Given the description of an element on the screen output the (x, y) to click on. 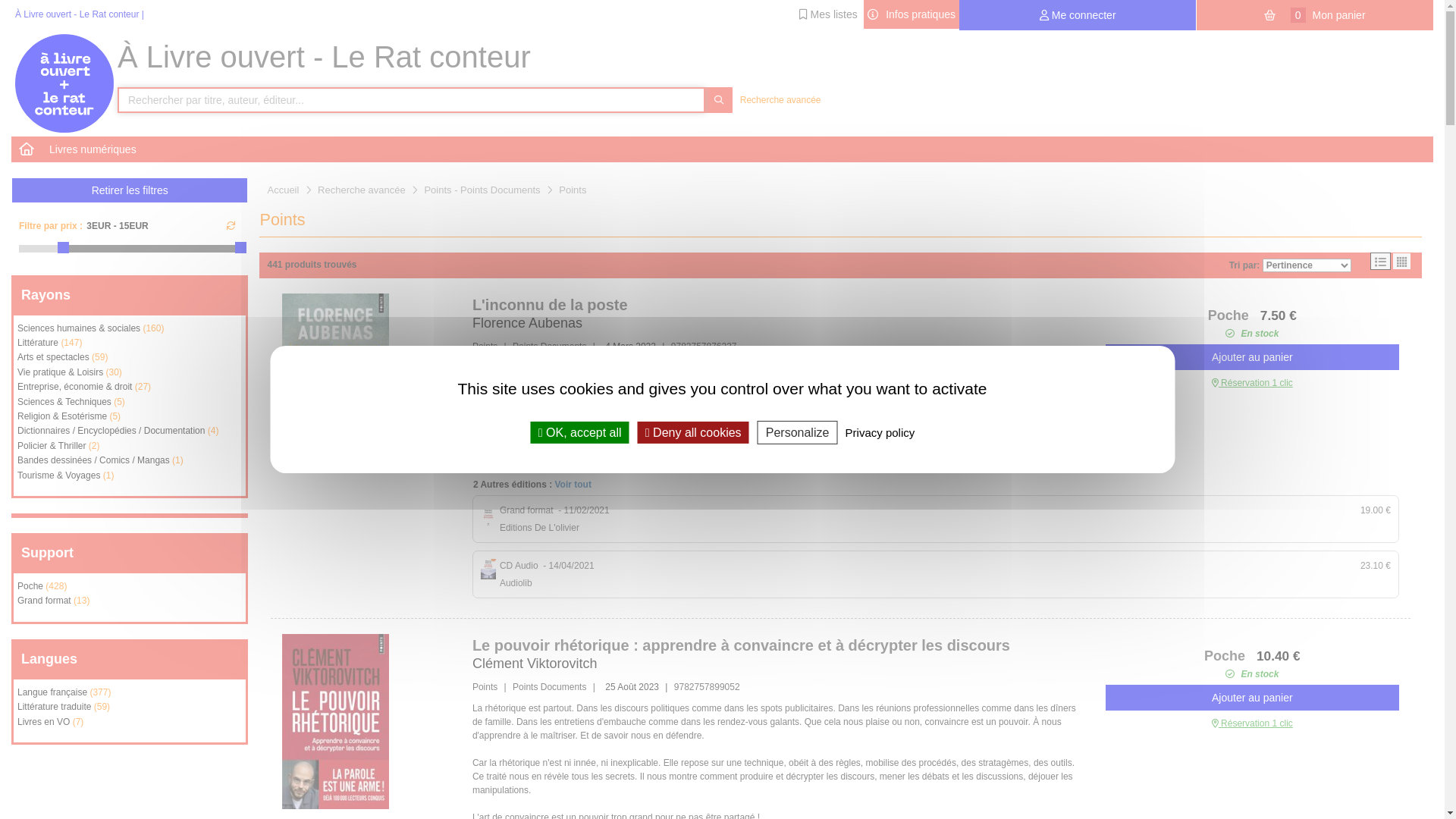
Mes listes Element type: text (828, 14)
Poche Element type: text (1226, 655)
Grand format (13) Element type: text (129, 602)
Sciences humaines & sociales (160) Element type: text (129, 330)
Tourisme & Voyages (1) Element type: text (129, 477)
Me connecter Element type: text (1077, 15)
Points - Points Documents Element type: text (481, 189)
Vie pratique & Loisirs (30) Element type: text (129, 374)
Infos pratiques Element type: text (911, 14)
Poche (428) Element type: text (129, 587)
0 Mon panier Element type: text (1314, 15)
L'inconnu de la poste Element type: hover (335, 380)
Sciences & Techniques (5) Element type: text (129, 403)
Policier & Thriller (2) Element type: text (129, 447)
L'inconnu de la poste Element type: text (549, 304)
Accueil Element type: text (282, 189)
OK, accept all Element type: text (579, 432)
Personalize Element type: text (797, 432)
Privacy policy Element type: text (879, 432)
Ajouter au panier Element type: text (1252, 357)
Points Element type: text (572, 189)
Grille Element type: hover (1401, 261)
Liste Element type: hover (1380, 260)
Deny all cookies Element type: text (693, 432)
Ajouter au panier Element type: text (1252, 697)
Retirer les filtres Element type: text (129, 190)
Arts et spectacles (59) Element type: text (129, 358)
Livres en VO (7) Element type: text (129, 722)
Poche Element type: text (1230, 315)
Florence Aubenas Element type: text (527, 322)
